Given the description of an element on the screen output the (x, y) to click on. 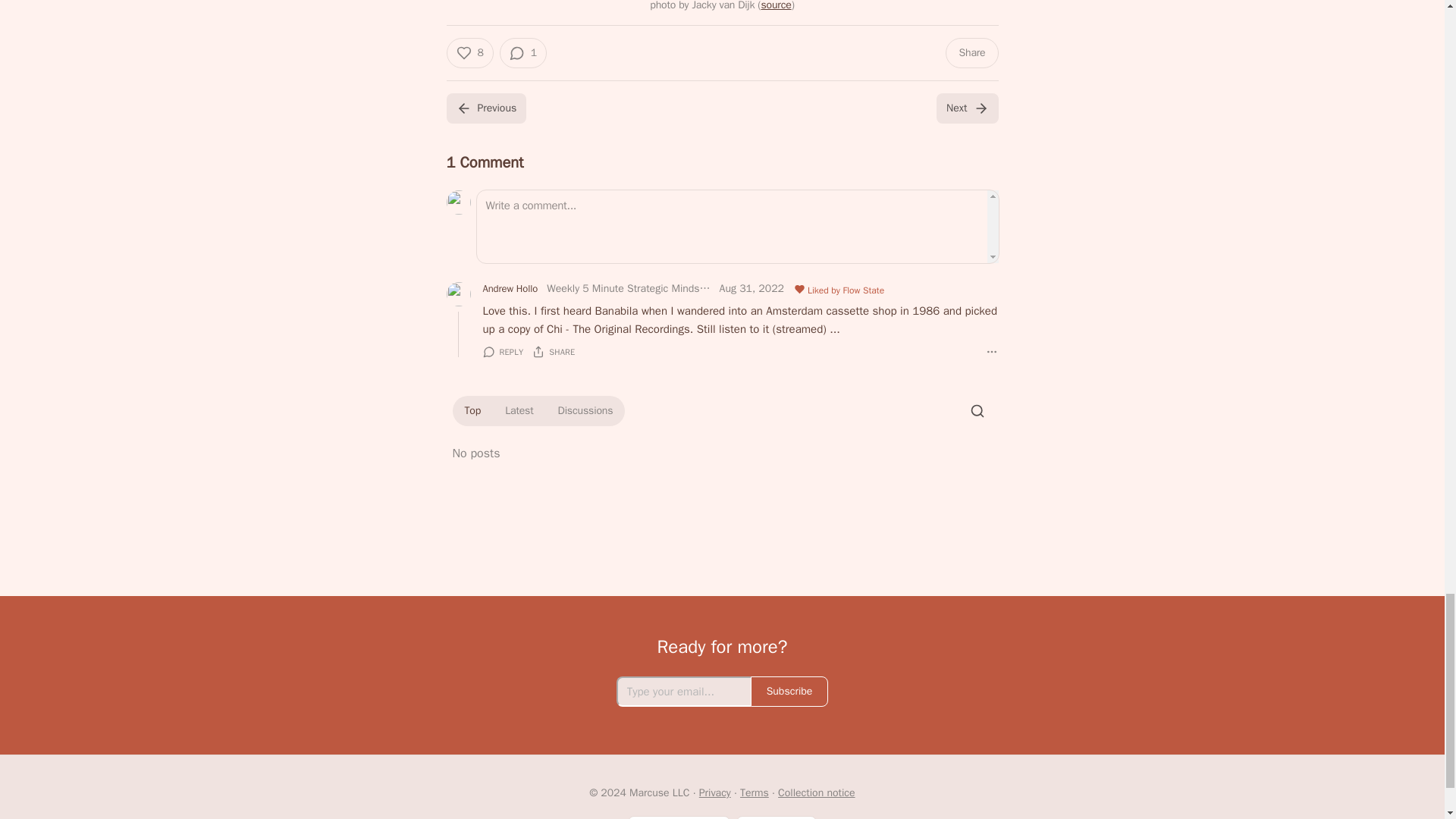
source (775, 5)
8 (469, 52)
